Given the description of an element on the screen output the (x, y) to click on. 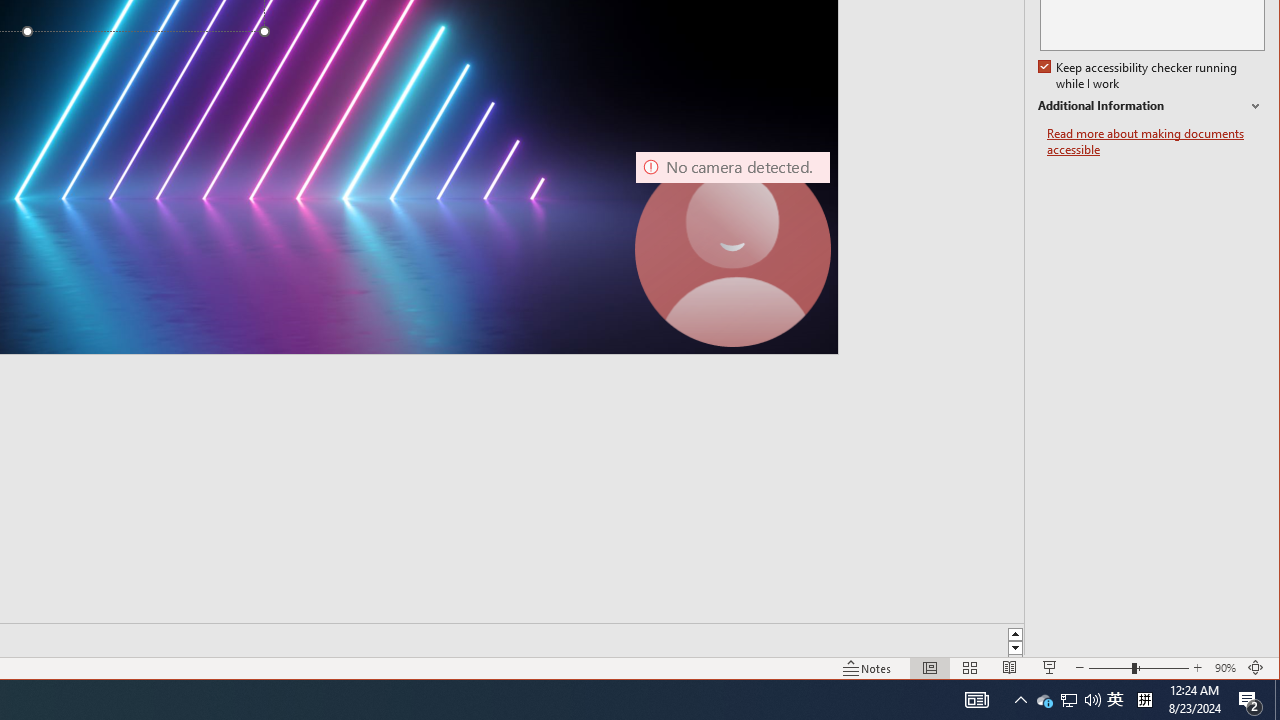
Zoom 90% (1225, 668)
Camera 7, No camera detected. (732, 249)
